Given the description of an element on the screen output the (x, y) to click on. 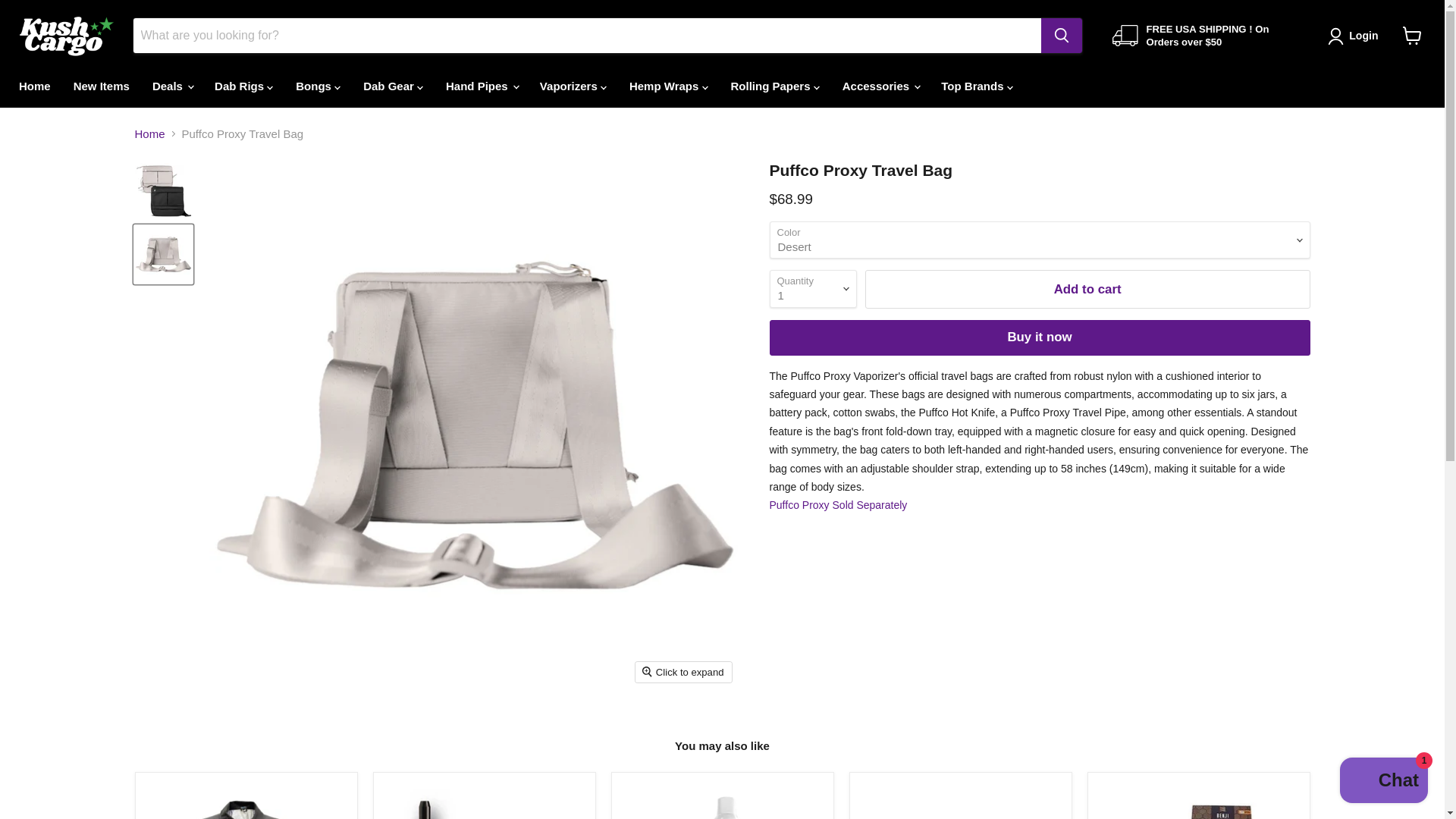
New Items (101, 85)
puffco proxy for sale (837, 504)
Home (34, 85)
Shopify online store chat (1383, 781)
Login (1355, 36)
View cart (1411, 35)
